Given the description of an element on the screen output the (x, y) to click on. 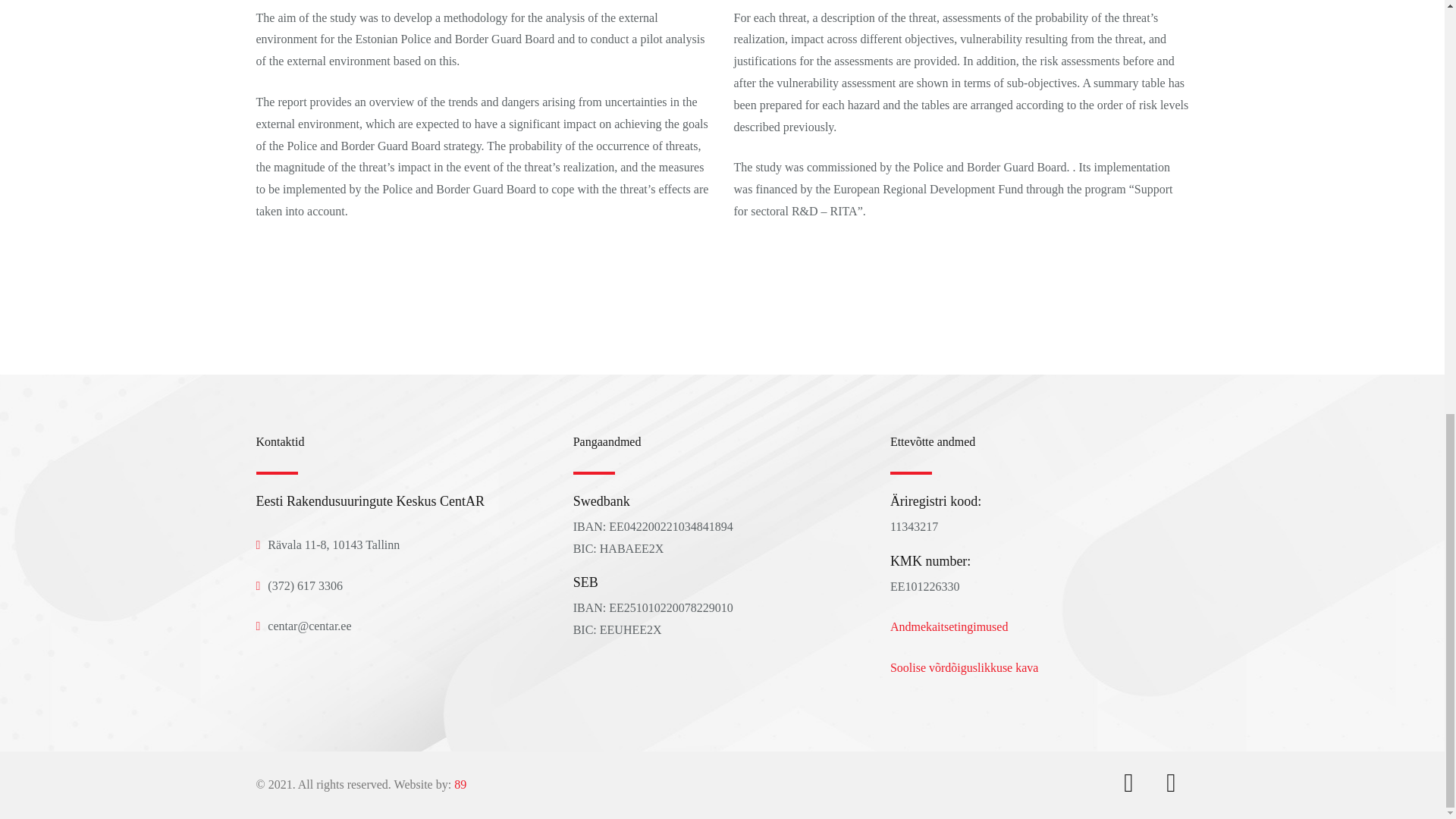
89 (459, 784)
Andmekaitsetingimused (949, 626)
